Given the description of an element on the screen output the (x, y) to click on. 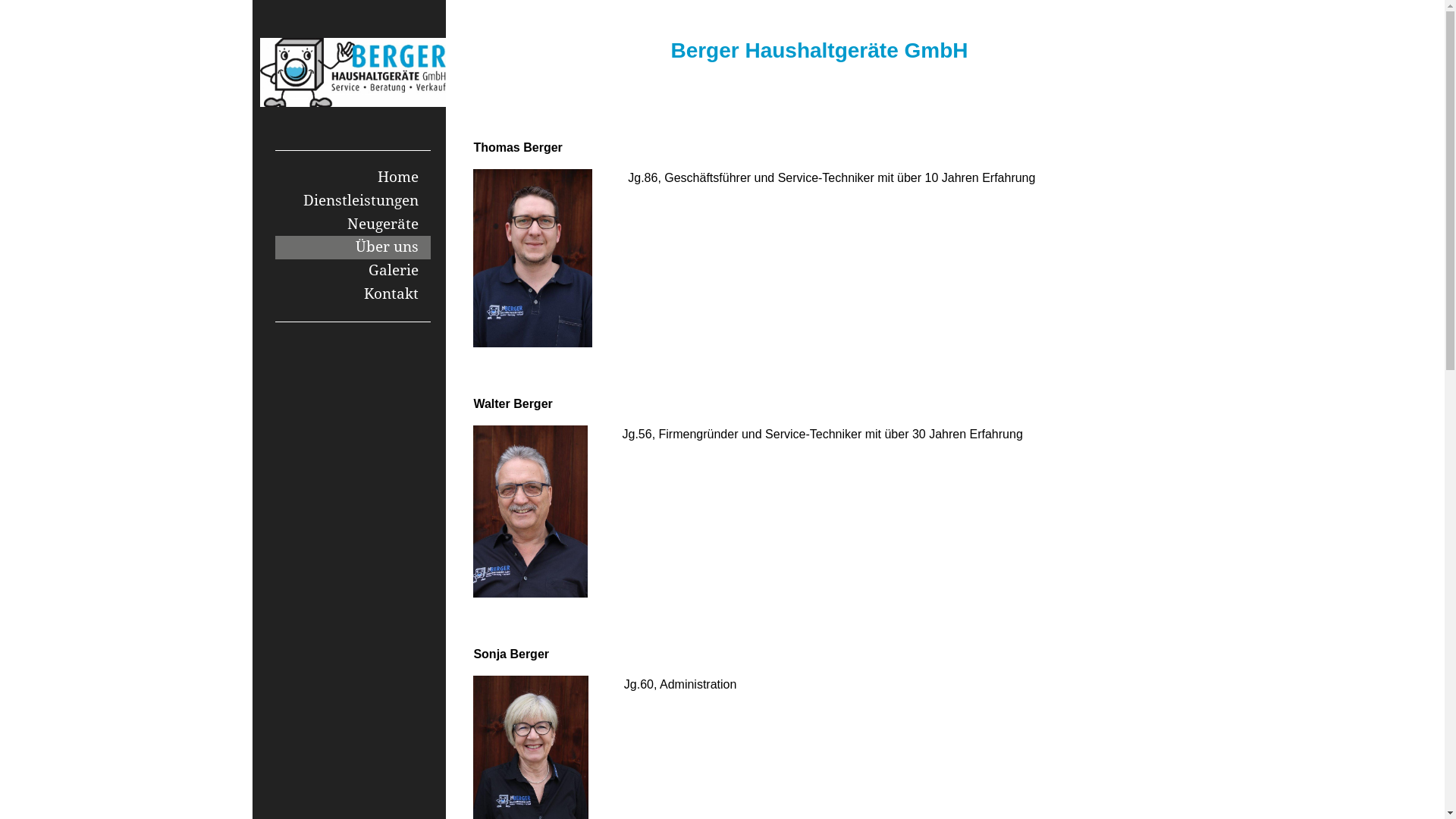
Dienstleistungen Element type: text (352, 201)
Galerie Element type: text (352, 270)
Home Element type: text (352, 177)
Kontakt Element type: text (352, 294)
